Given the description of an element on the screen output the (x, y) to click on. 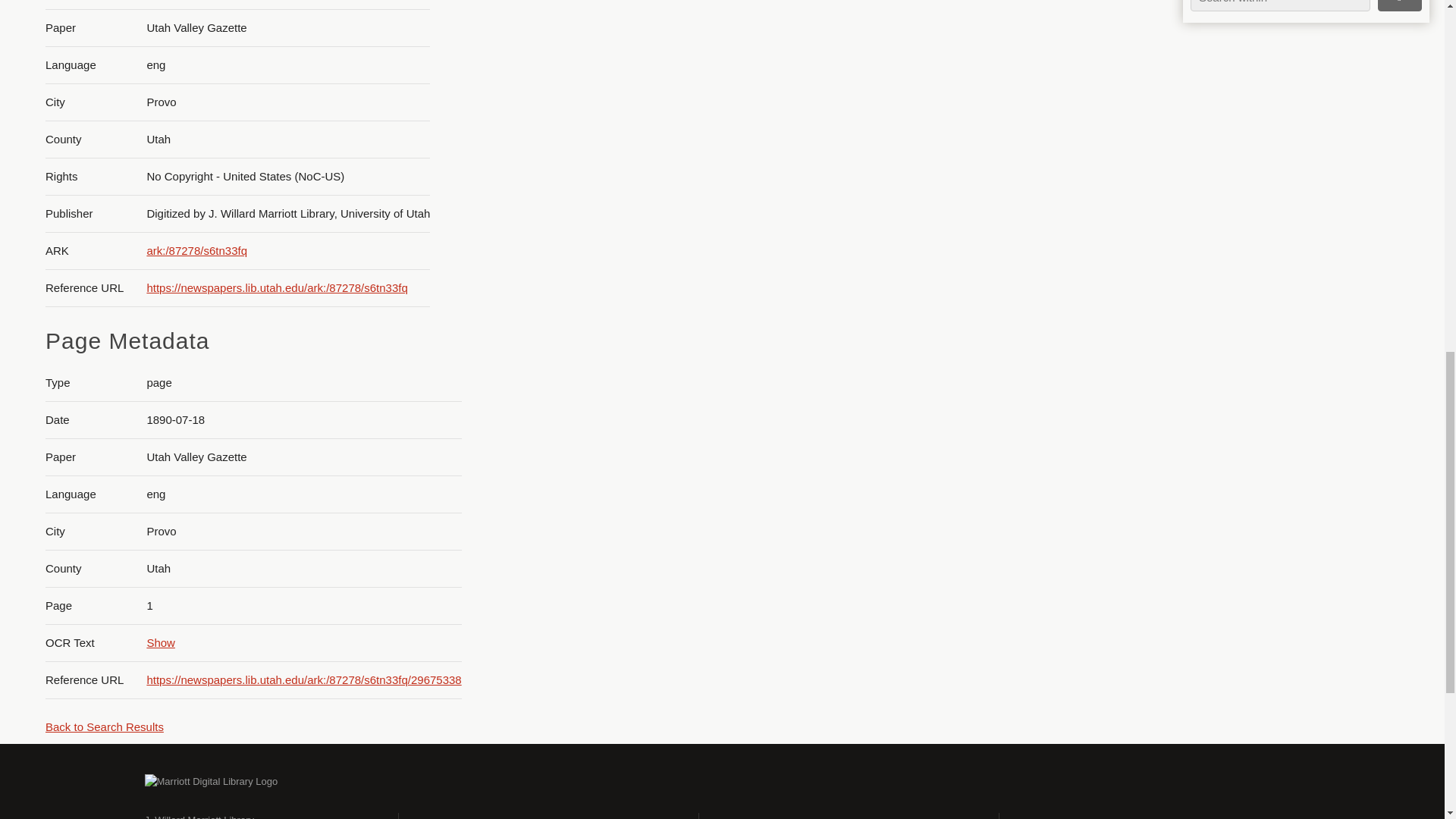
Show (160, 642)
J. Willard Marriott Library (198, 816)
Back to Search Results (104, 726)
